Given the description of an element on the screen output the (x, y) to click on. 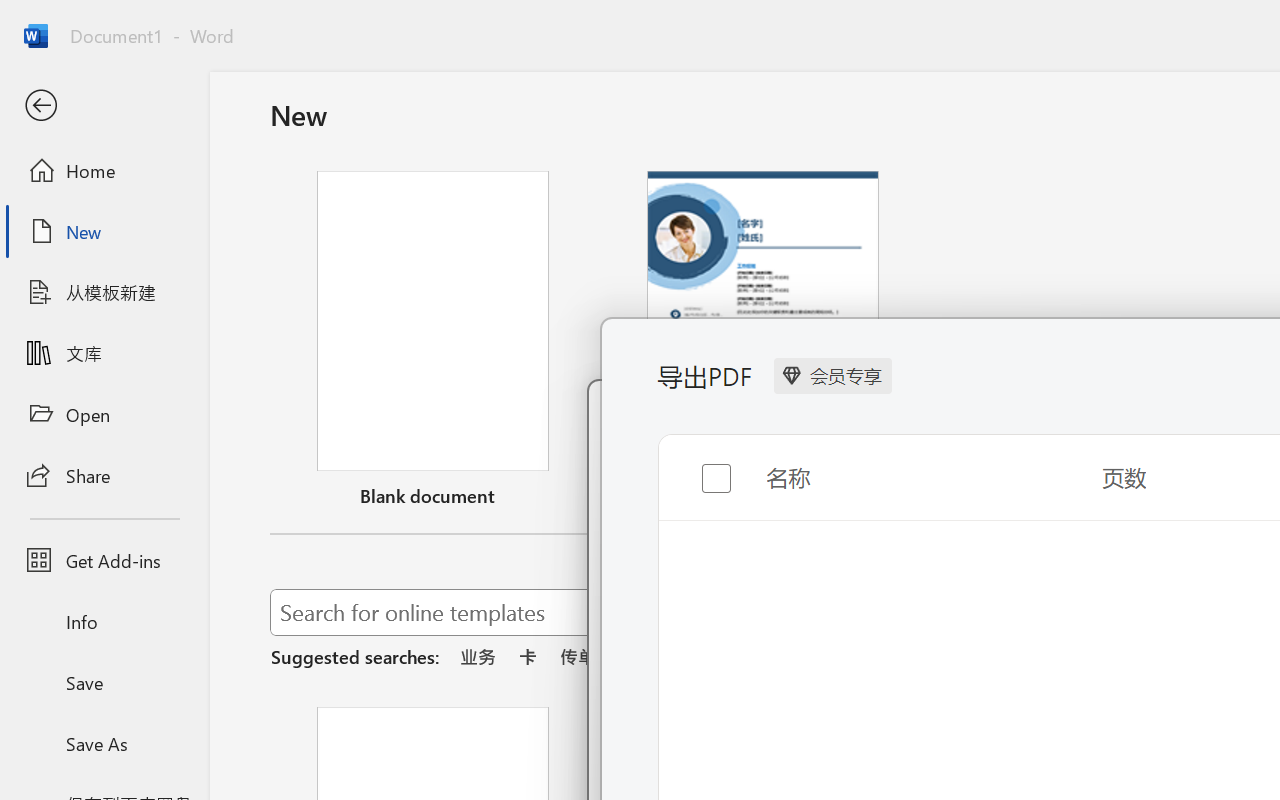
New (104, 231)
Blank document (433, 343)
